Given the description of an element on the screen output the (x, y) to click on. 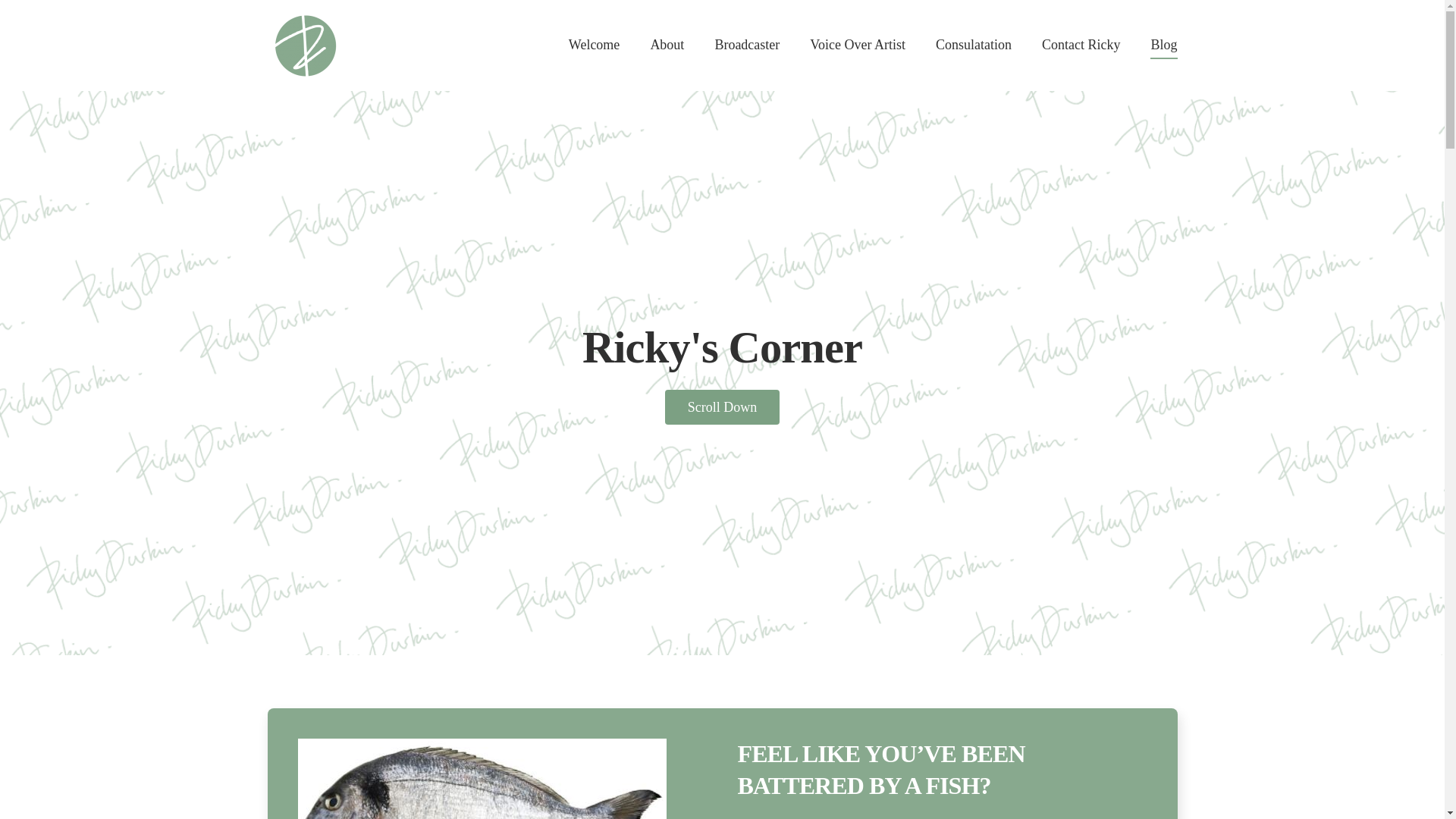
About (666, 45)
Consulatation (973, 45)
Contact Ricky (1080, 45)
Scroll Down (722, 407)
Blog (1163, 45)
Voice Over Artist (857, 45)
Welcome (593, 45)
Broadcaster (746, 45)
